Given the description of an element on the screen output the (x, y) to click on. 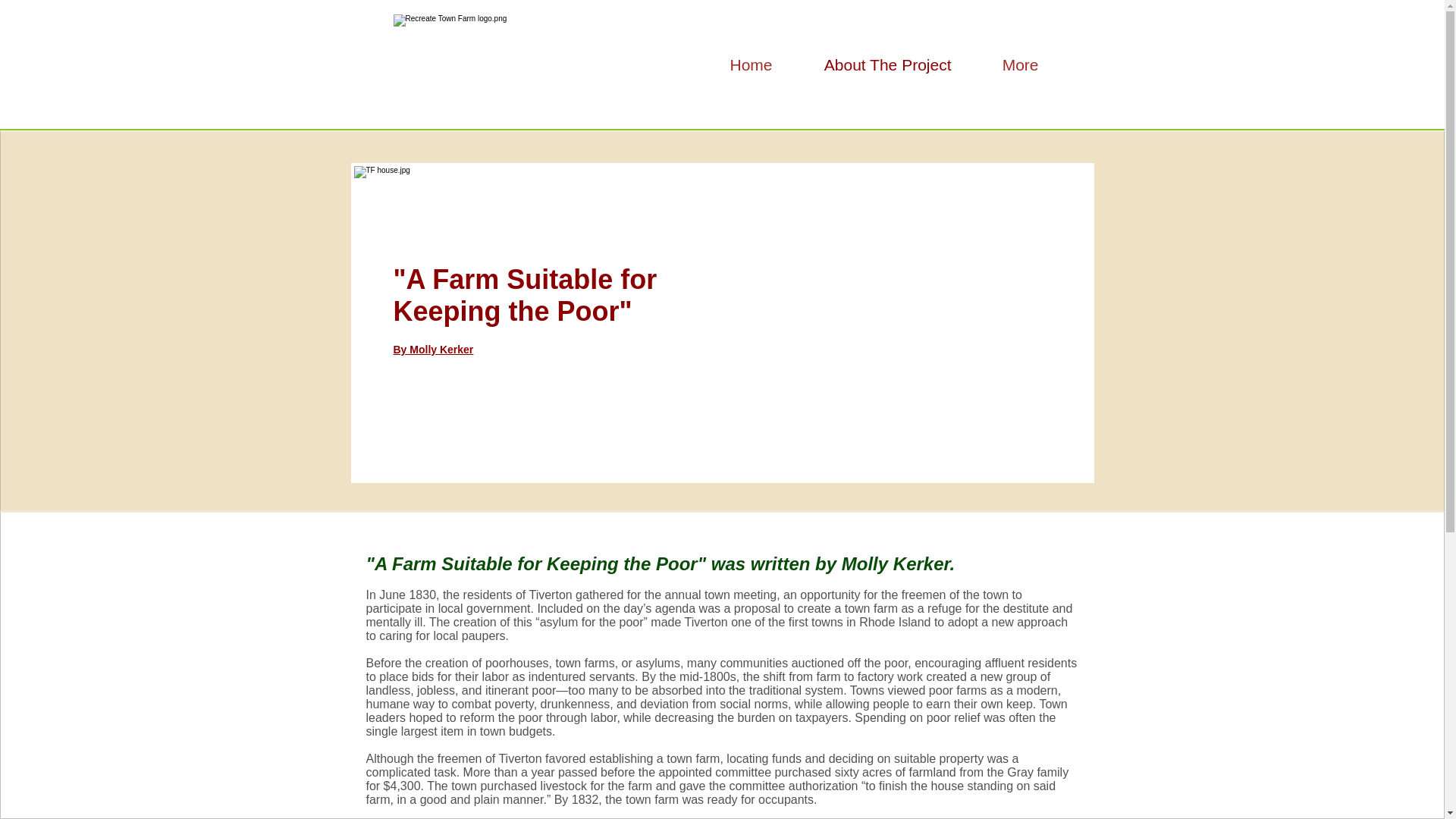
Home (737, 64)
About The Project (873, 64)
By Molly Kerker (433, 349)
